Given the description of an element on the screen output the (x, y) to click on. 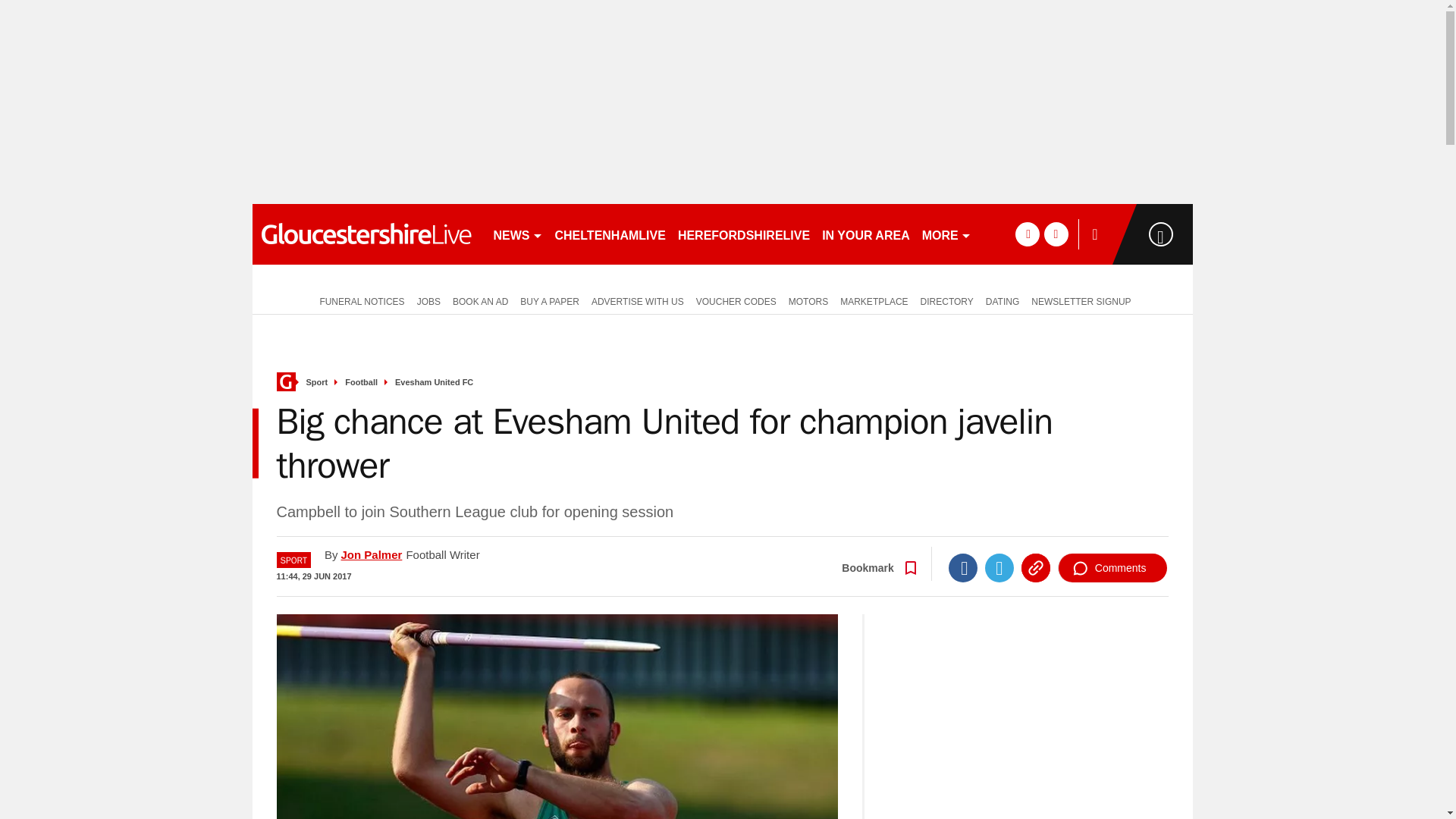
Facebook (962, 567)
CHELTENHAMLIVE (609, 233)
HEREFORDSHIRELIVE (743, 233)
MORE (945, 233)
facebook (1026, 233)
gloucestershirelive (365, 233)
Comments (1112, 567)
NEWS (517, 233)
IN YOUR AREA (865, 233)
twitter (1055, 233)
